Given the description of an element on the screen output the (x, y) to click on. 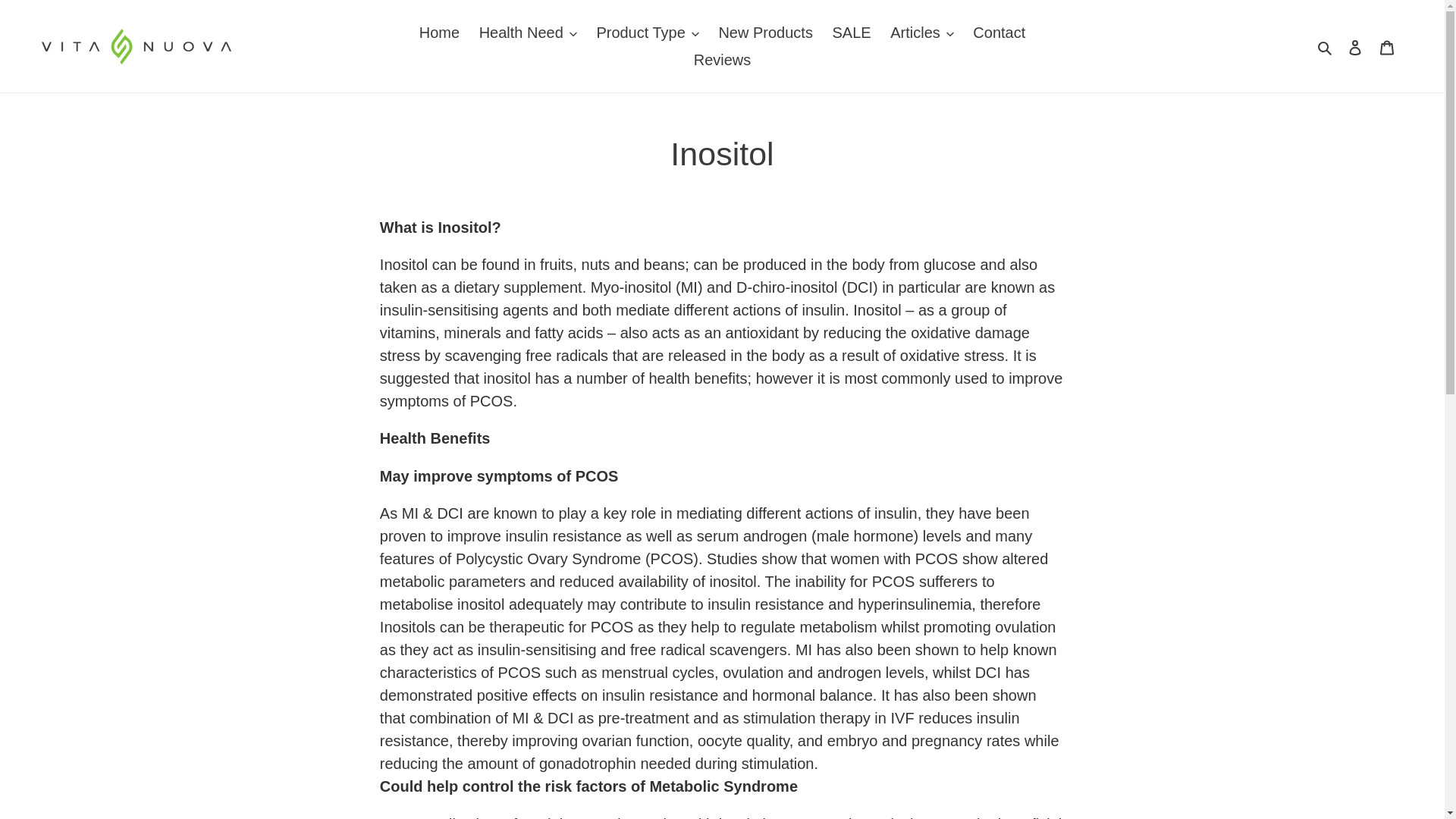
Health Need (528, 31)
Product Type (647, 31)
Home (439, 31)
